Given the description of an element on the screen output the (x, y) to click on. 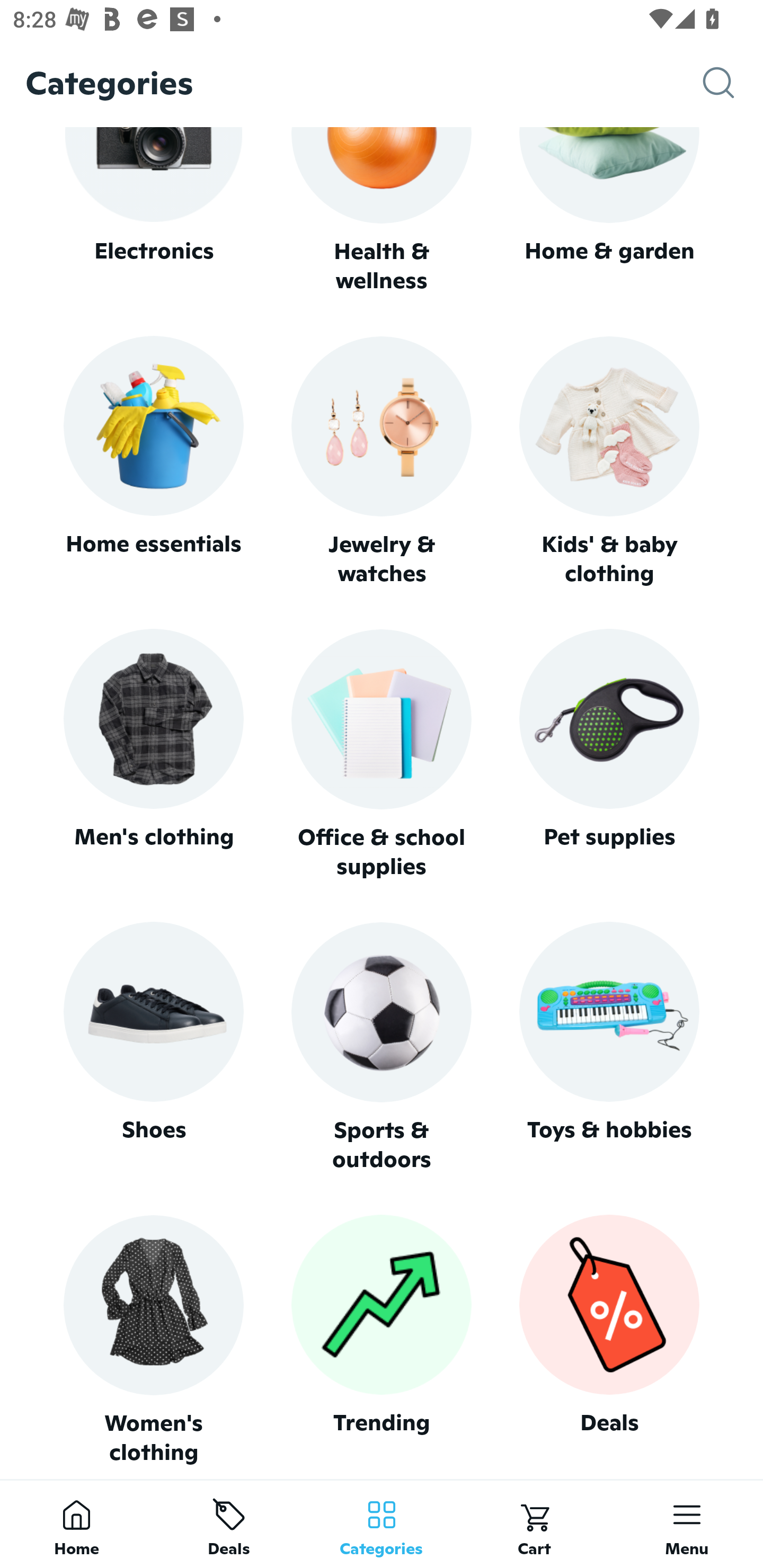
Search (732, 82)
Electronics (153, 210)
Health & wellness (381, 210)
Home & garden (609, 210)
Home essentials (153, 461)
Jewelry & watches (381, 462)
Kids' & baby clothing (609, 462)
Men's clothing (153, 753)
Pet supplies (609, 753)
Office & school supplies (381, 753)
Shoes (153, 1046)
Toys & hobbies (609, 1046)
Sports & outdoors (381, 1046)
Trending (381, 1340)
Deals (609, 1340)
Women's clothing (153, 1340)
Home (76, 1523)
Deals (228, 1523)
Categories (381, 1523)
Cart (533, 1523)
Menu (686, 1523)
